Given the description of an element on the screen output the (x, y) to click on. 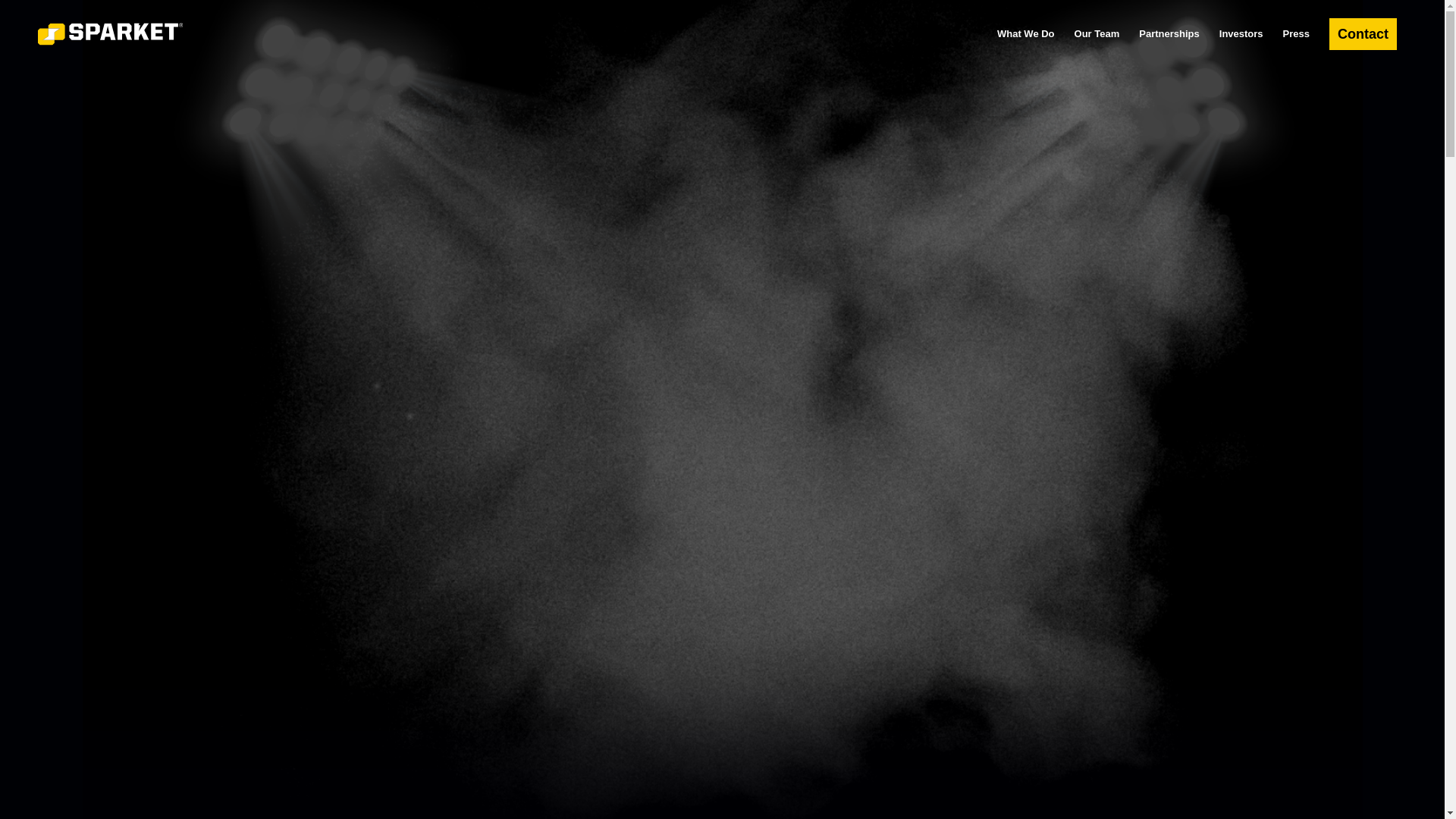
Our Team (1096, 33)
Investors (1240, 33)
What We Do (1025, 33)
Contact (1362, 33)
Partnerships (1168, 33)
